Given the description of an element on the screen output the (x, y) to click on. 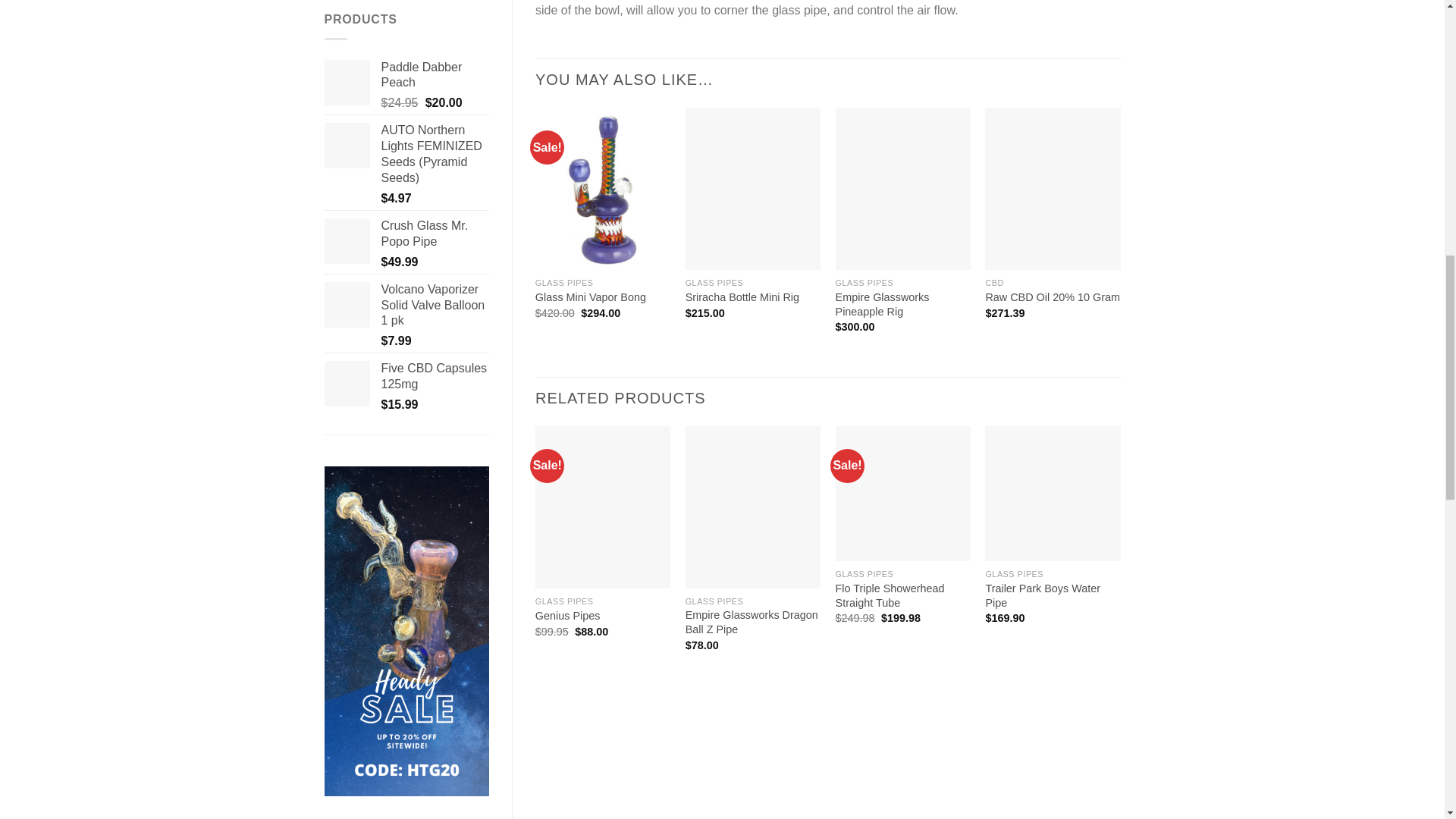
Volcano Vaporizer Solid Valve Balloon 1 pk (346, 304)
Five CBD Capsules 125mg (346, 383)
Paddle Dabber Peach (346, 82)
Crush Glass Mr. Popo Pipe (346, 240)
